Given the description of an element on the screen output the (x, y) to click on. 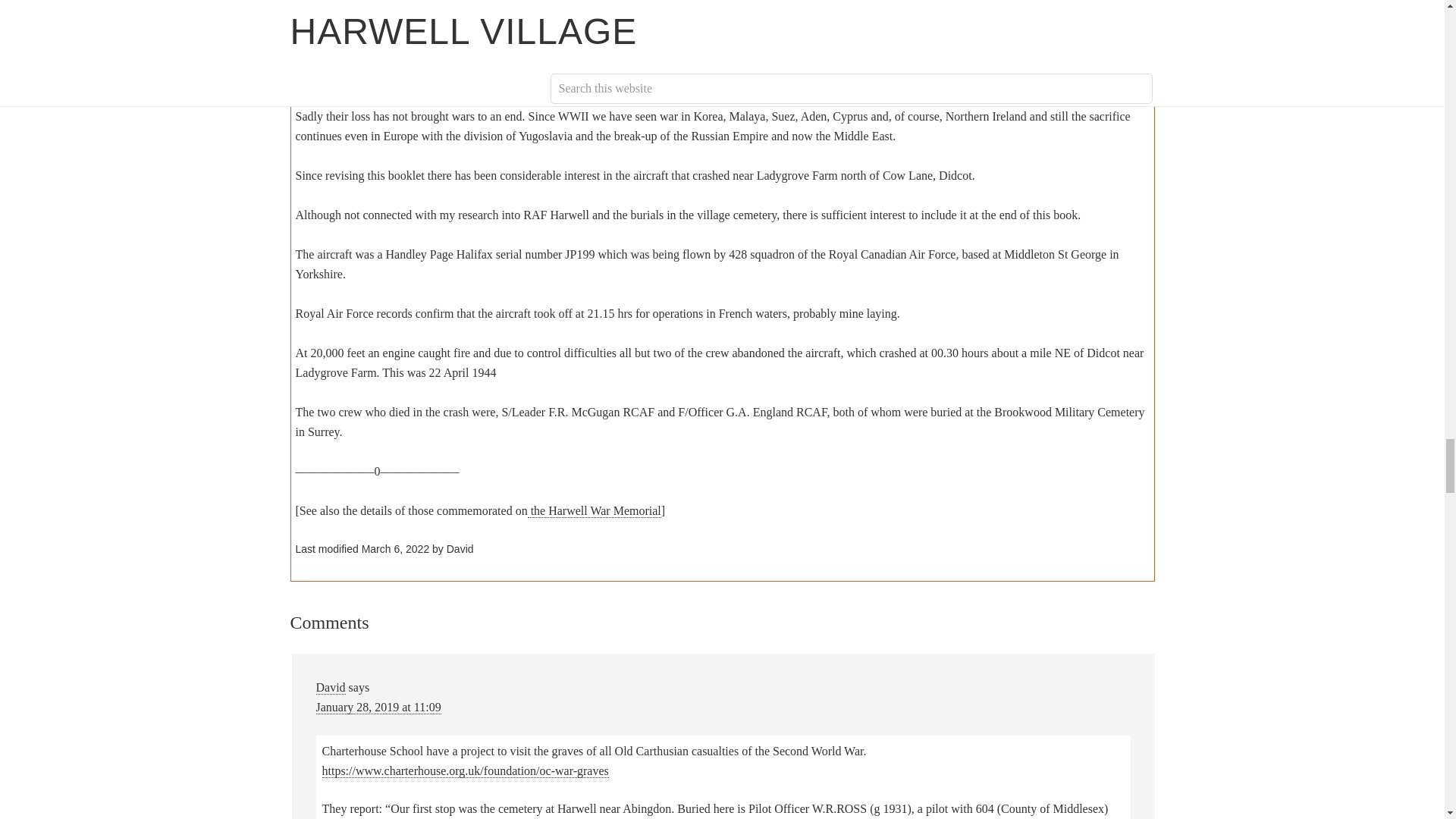
January 28, 2019 at 11:09 (378, 707)
David (330, 687)
the Harwell War Memorial (594, 510)
